Given the description of an element on the screen output the (x, y) to click on. 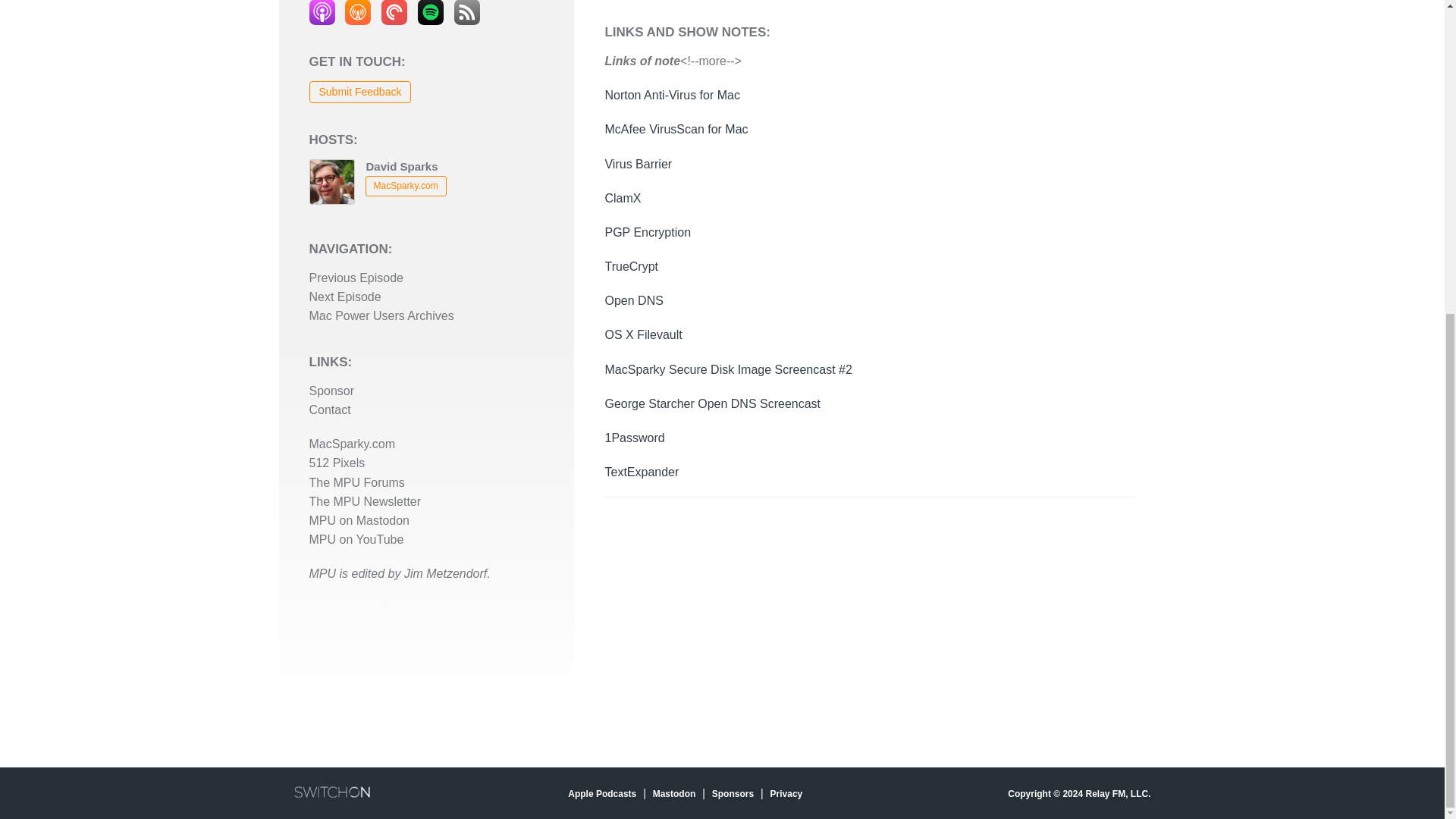
MPU on Mastodon (359, 520)
512 Pixels (336, 462)
Contact (329, 409)
MacSparky.com (352, 443)
Mac Power Users Archives (381, 315)
MacSparky.com (405, 185)
Previous Episode (356, 277)
The MPU Newsletter (365, 501)
Submit Feedback (360, 91)
Next Episode (344, 296)
